Given the description of an element on the screen output the (x, y) to click on. 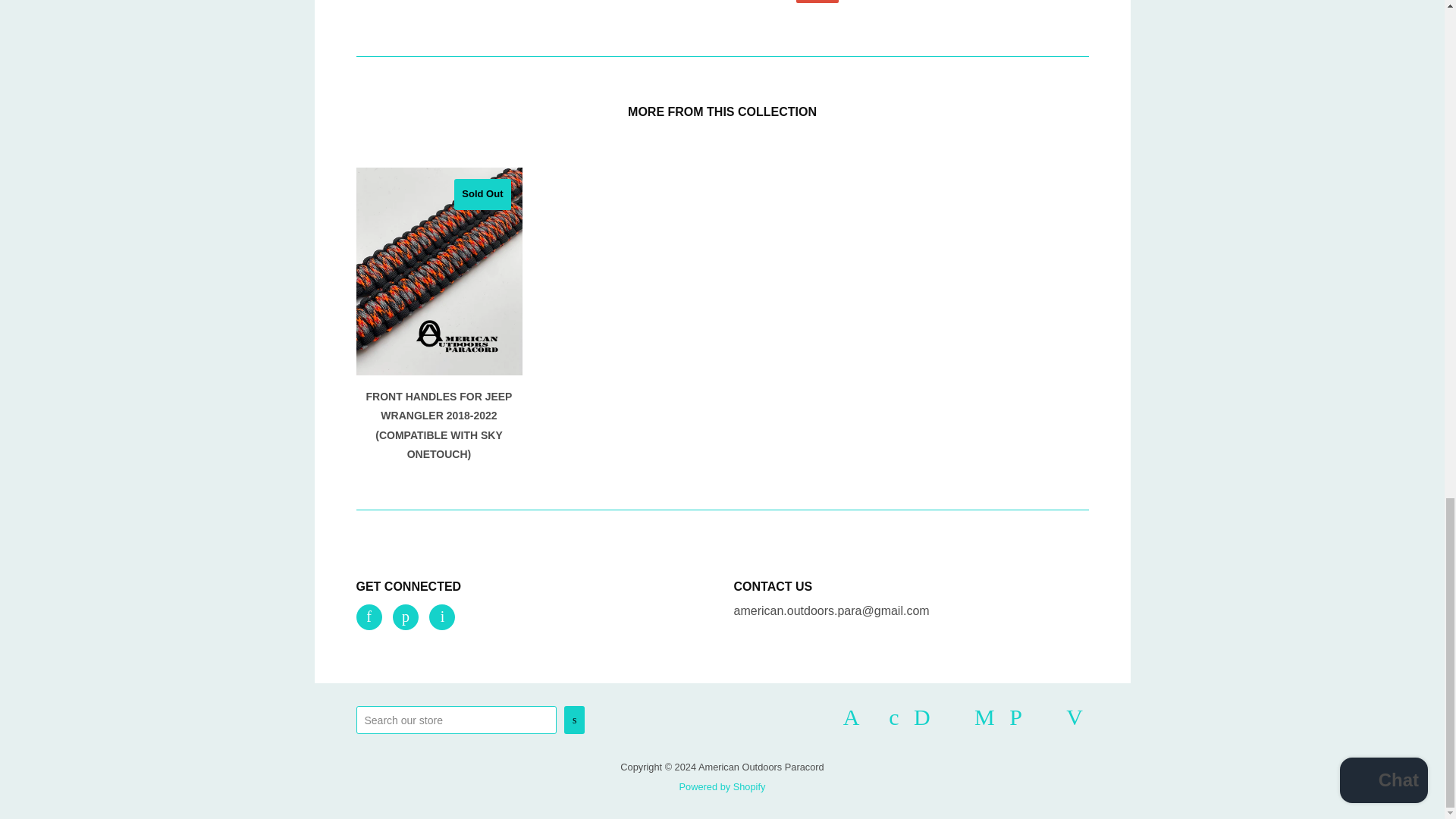
Pinterest (406, 617)
Facebook (368, 617)
American Outdoors Paracord on Instagram (441, 617)
American Outdoors Paracord on Pinterest (406, 617)
Powered by Shopify (722, 786)
Instagram (441, 617)
American Outdoors Paracord on Facebook (368, 617)
